Given the description of an element on the screen output the (x, y) to click on. 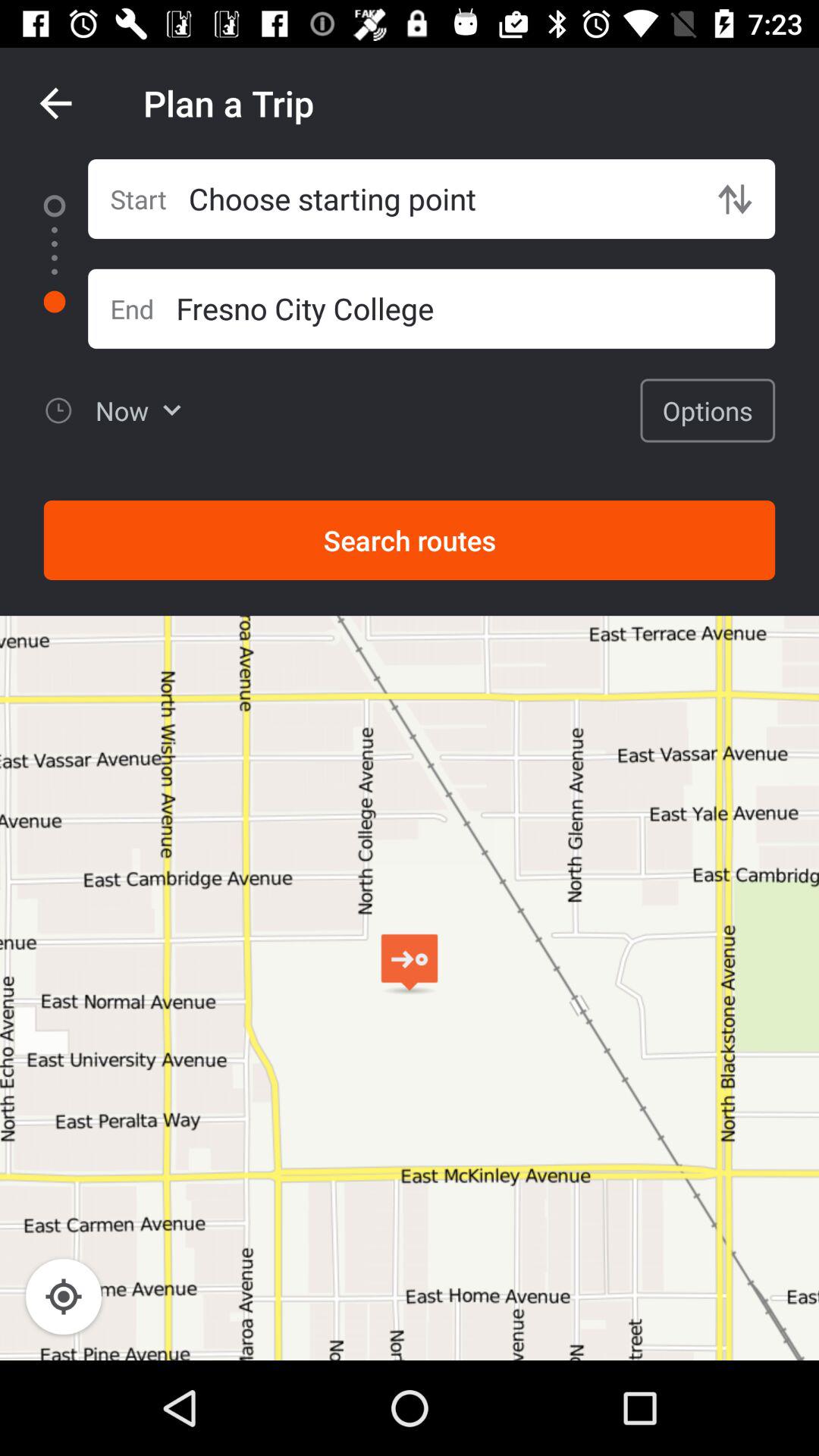
turn off the choose starting point icon (441, 198)
